Given the description of an element on the screen output the (x, y) to click on. 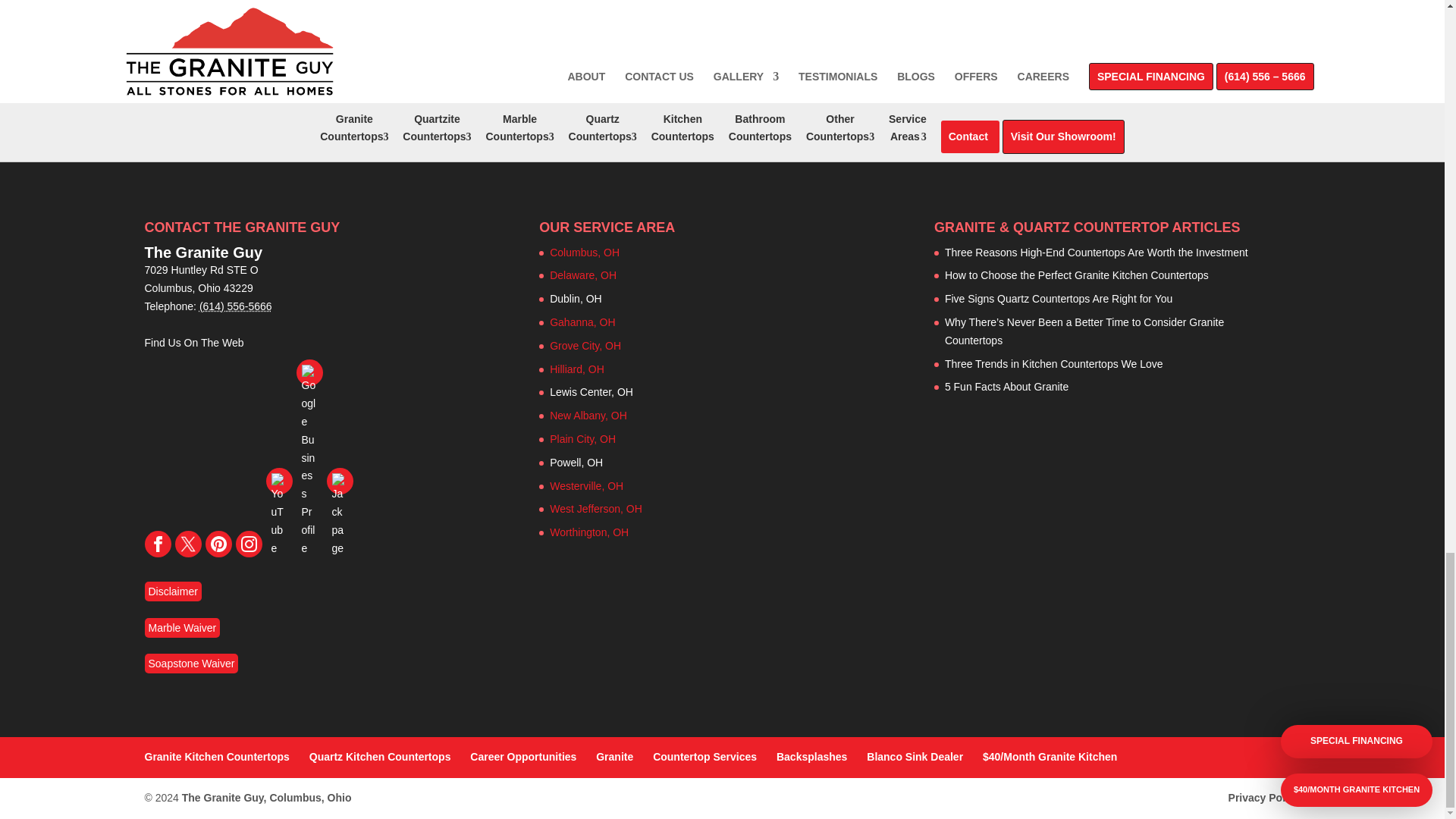
YouTube (278, 480)
Pinterest (218, 543)
Twitter (187, 543)
Instagram (248, 543)
Facebook (157, 543)
Google Business Profile (308, 372)
Instagram (249, 544)
Facebook (157, 544)
Pinterest (219, 544)
Jackpage (339, 480)
